Given the description of an element on the screen output the (x, y) to click on. 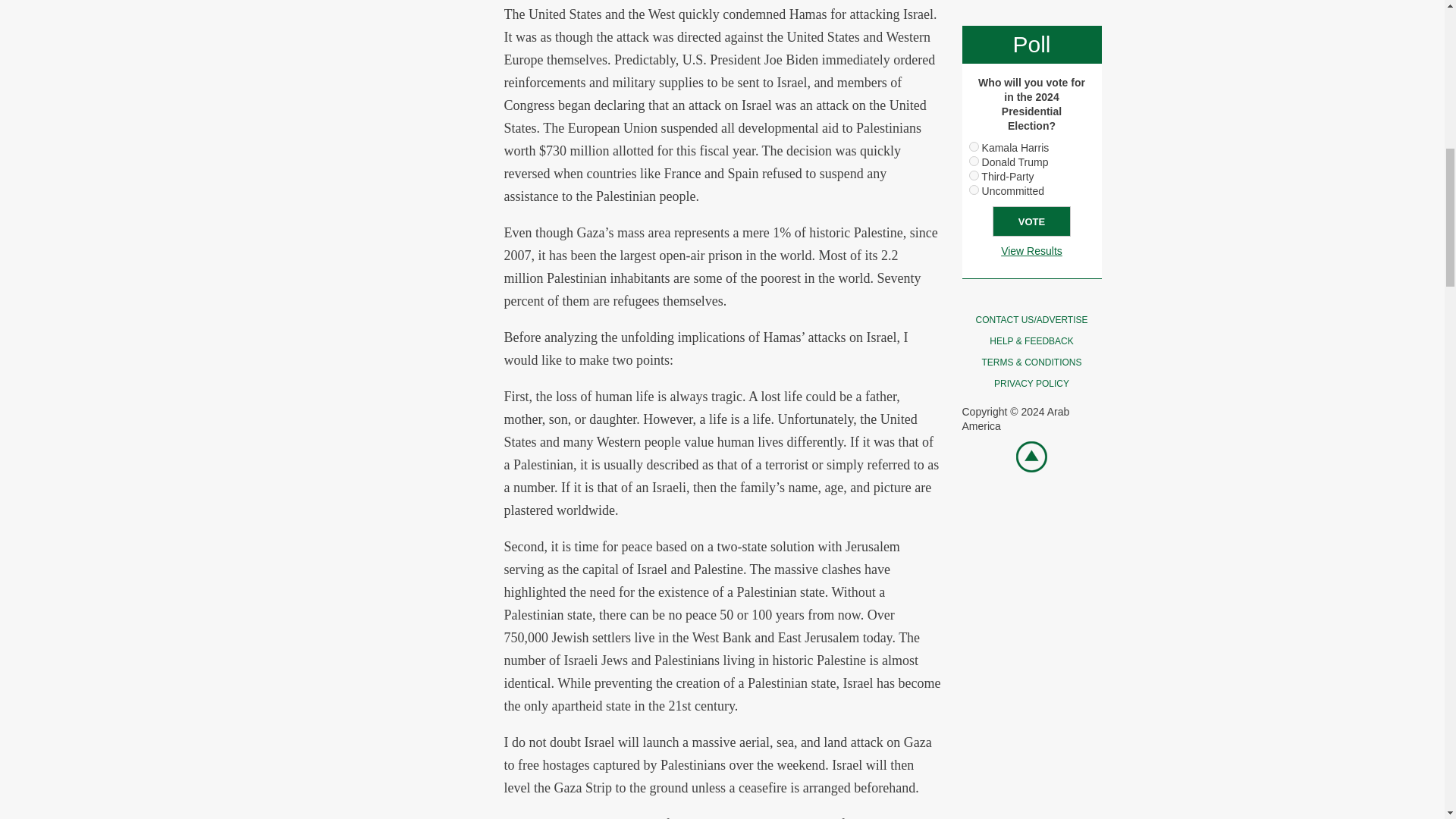
   Vote    (1031, 221)
31 (973, 175)
32 (973, 189)
29 (973, 146)
30 (973, 161)
View Results Of This Poll (1031, 250)
